Given the description of an element on the screen output the (x, y) to click on. 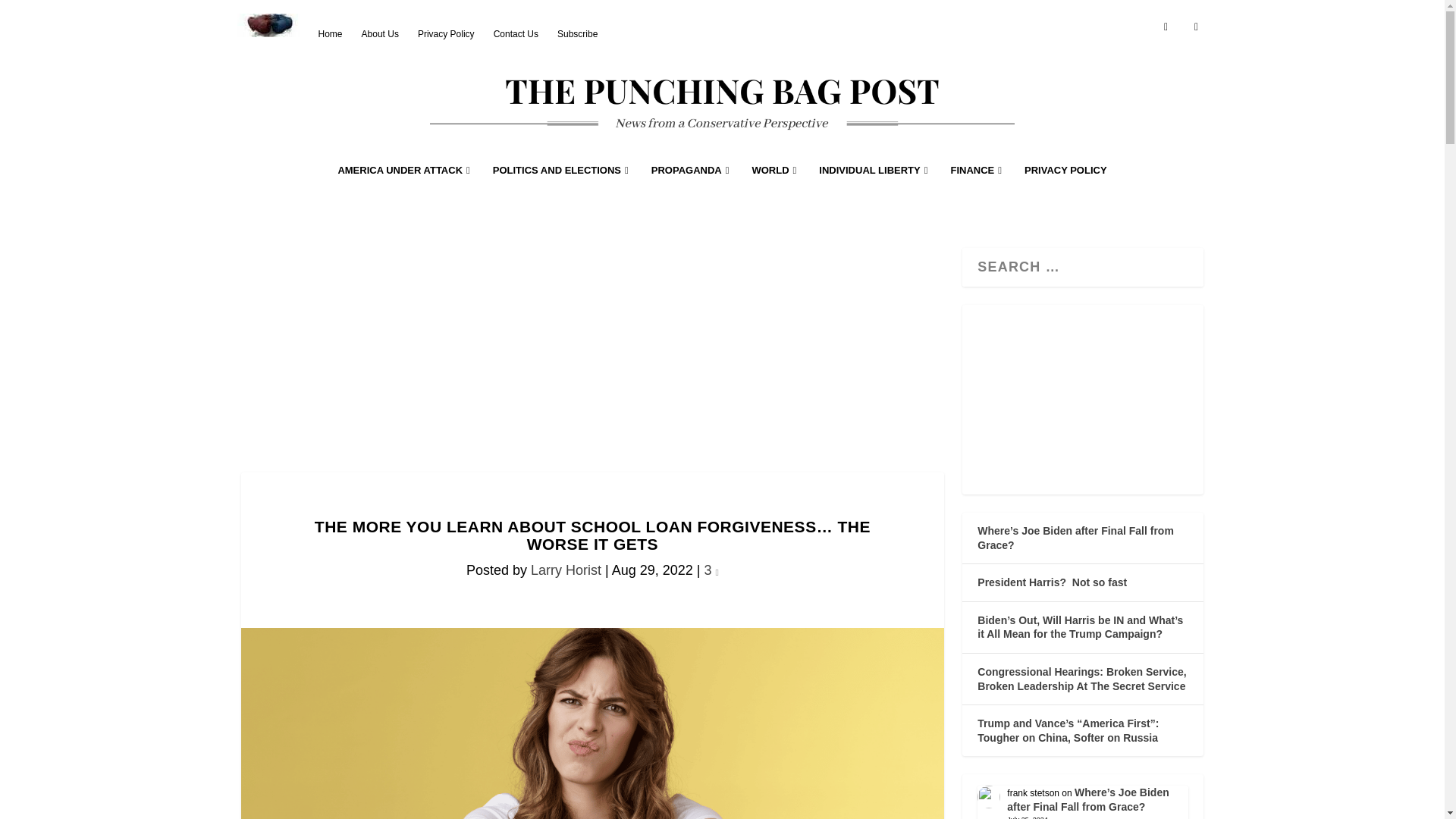
About Us (379, 33)
AMERICA UNDER ATTACK (402, 190)
Subscribe (576, 33)
Home (330, 33)
Contact Us (515, 33)
POLITICS AND ELECTIONS (560, 190)
Privacy Policy (445, 33)
